Given the description of an element on the screen output the (x, y) to click on. 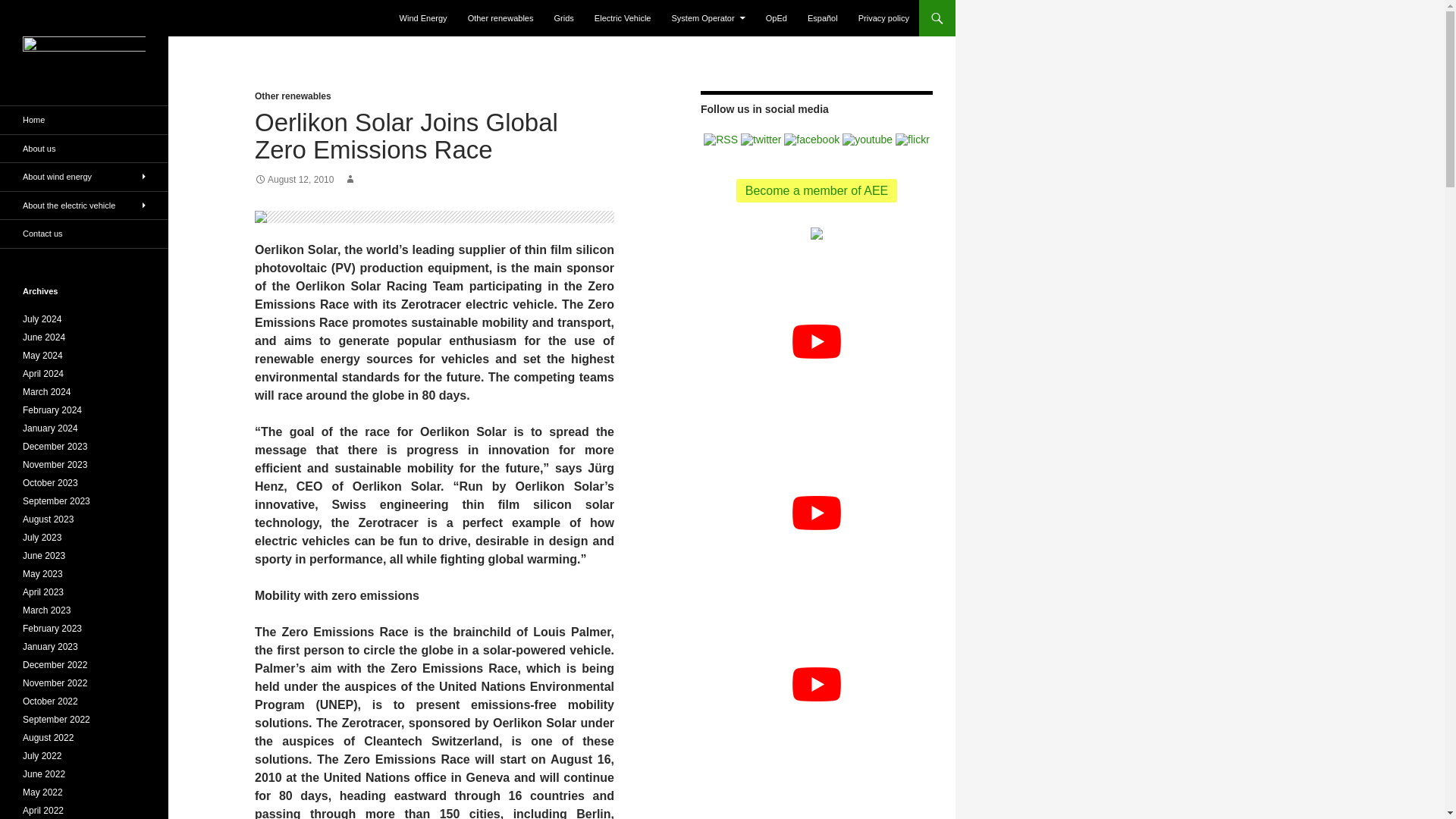
Become a member of AEE (817, 190)
OpEd (776, 18)
Electric Vehicle (623, 18)
Wind Energy (423, 18)
flickr (912, 138)
RSS (720, 138)
Other renewables (292, 95)
Other renewables (500, 18)
facebook (812, 139)
twitter (761, 138)
flickr (912, 139)
August 12, 2010 (293, 179)
System Operator (708, 18)
twitter (760, 139)
Privacy policy (883, 18)
